Given the description of an element on the screen output the (x, y) to click on. 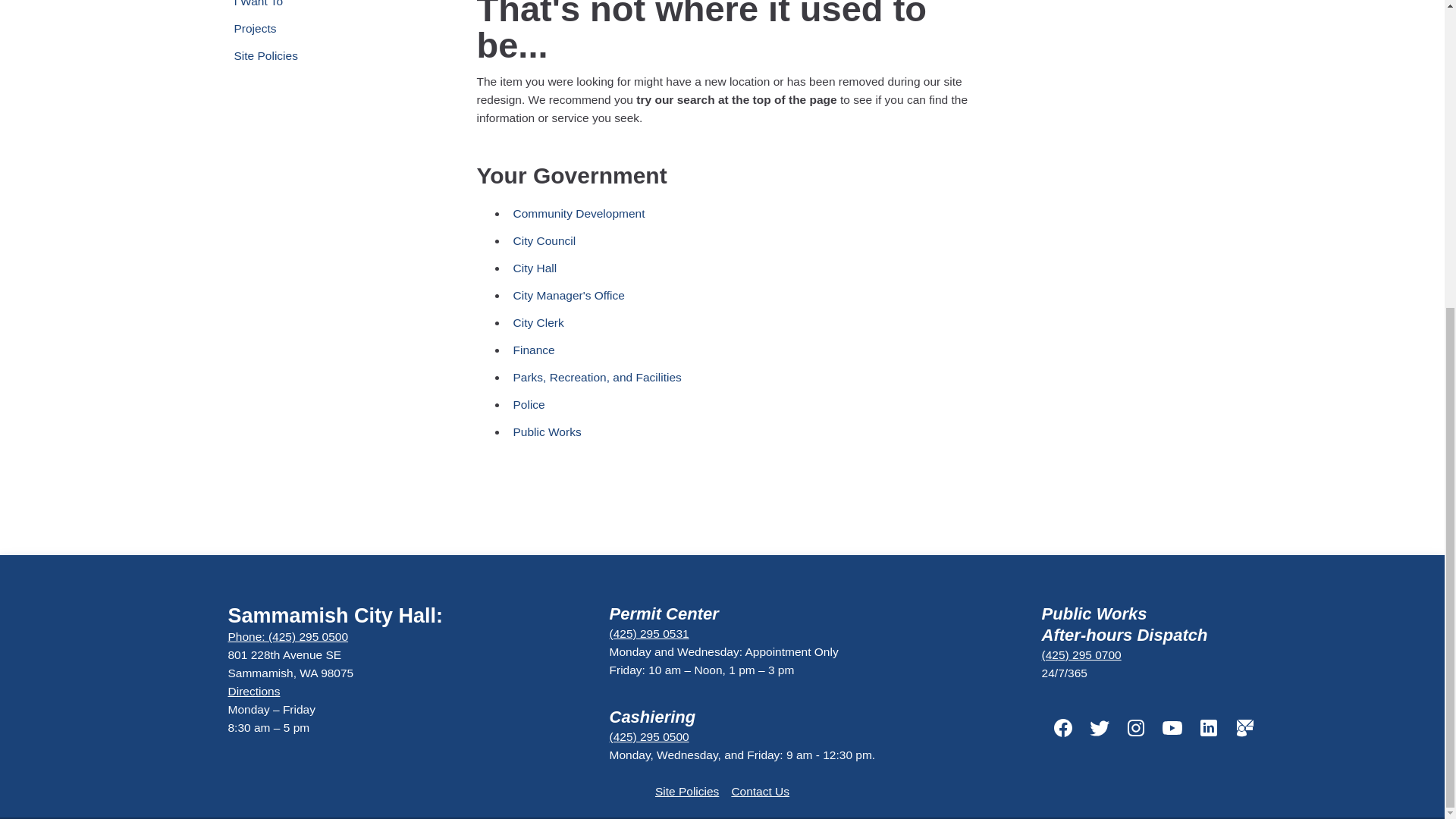
Community Development (671, 213)
City Hall (671, 267)
Parks, Recreation, and Facilities (671, 377)
City Clerk (671, 322)
Public Works (671, 431)
City Manager's Office (671, 295)
City Council (671, 240)
Police (671, 404)
Finance (671, 349)
